Given the description of an element on the screen output the (x, y) to click on. 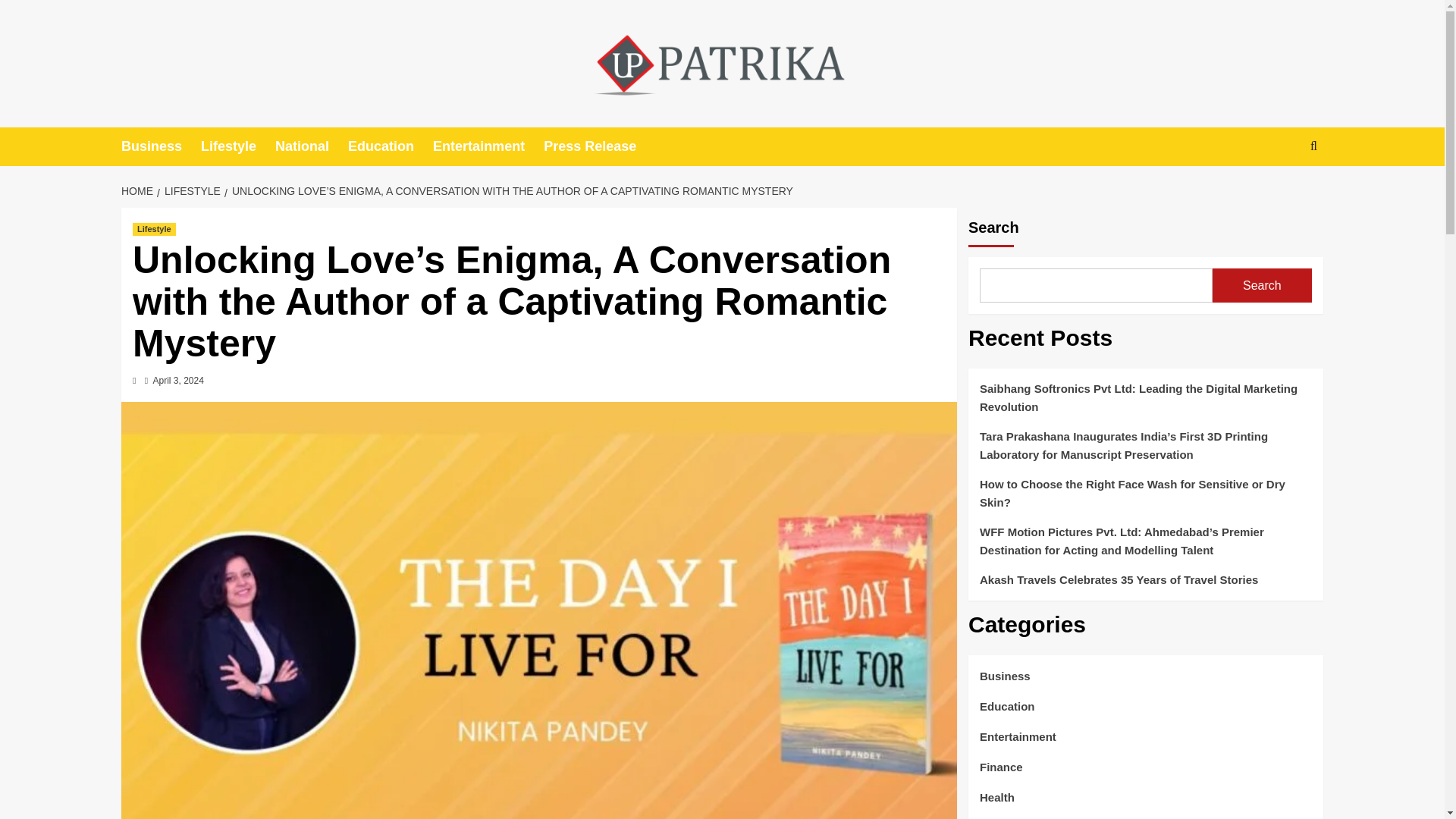
Lifestyle (237, 146)
Press Release (599, 146)
Education (389, 146)
Business (160, 146)
April 3, 2024 (177, 380)
Entertainment (487, 146)
National (311, 146)
LIFESTYLE (190, 191)
Search (1278, 192)
HOME (138, 191)
Lifestyle (154, 228)
